Given the description of an element on the screen output the (x, y) to click on. 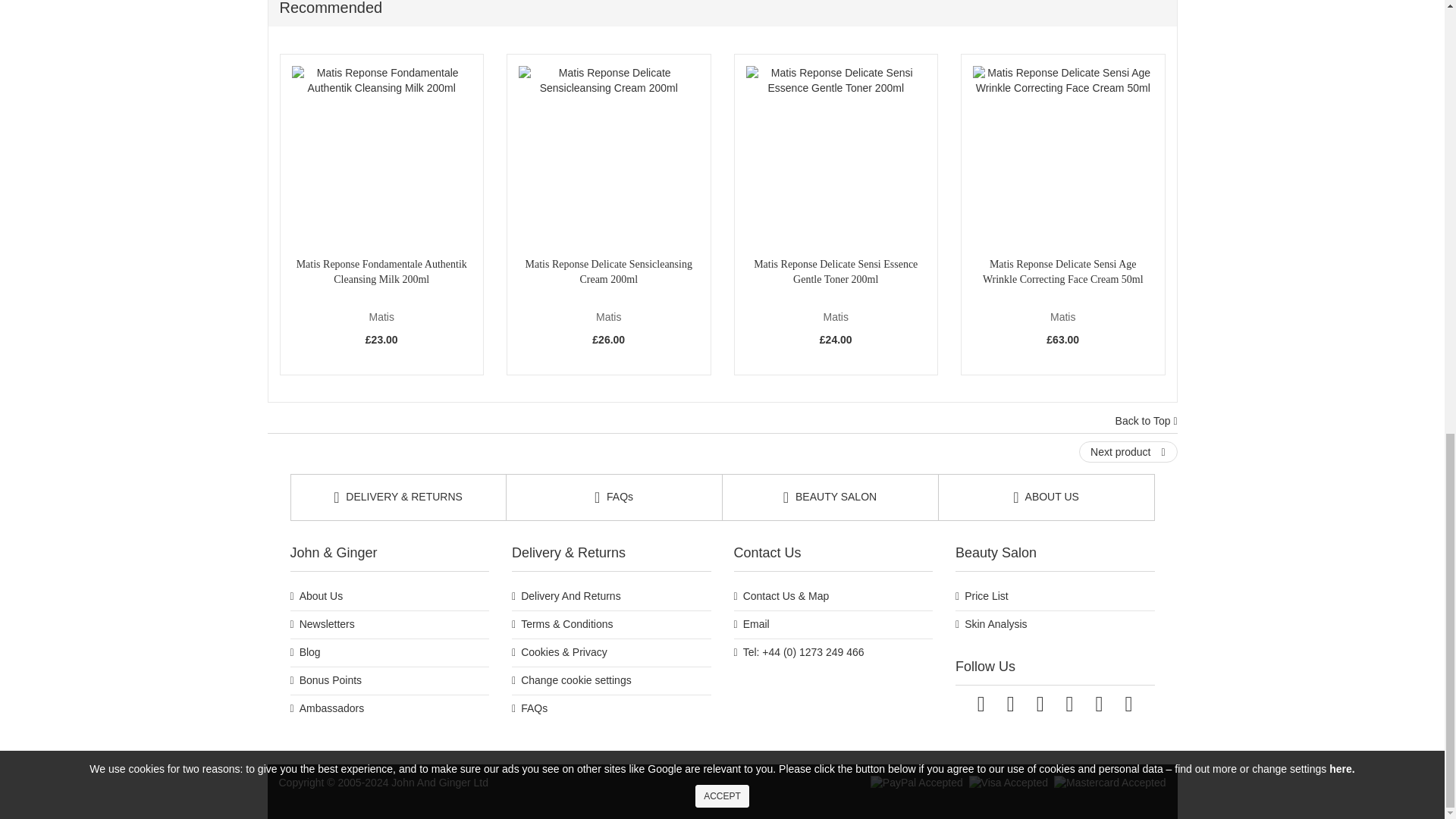
Matis Reponse Fondamentale Authentik Cleansing Milk 200ml (381, 156)
Matis Reponse Delicate Sensicleansing Cream 200ml (608, 156)
Back to Top (1146, 421)
Matis Reponse Delicate Sensi Essence Gentle Toner 200ml (835, 156)
